Given the description of an element on the screen output the (x, y) to click on. 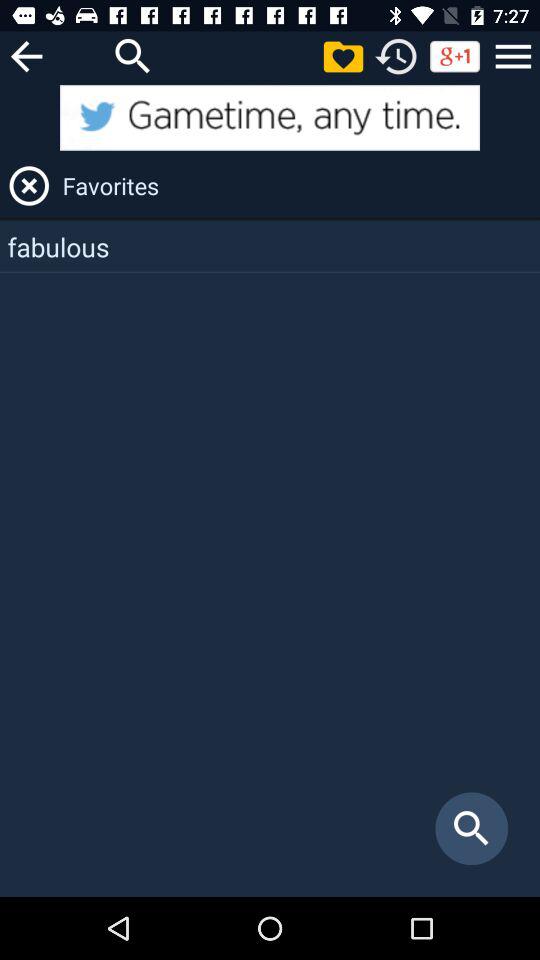
select favorites icon (298, 185)
